Given the description of an element on the screen output the (x, y) to click on. 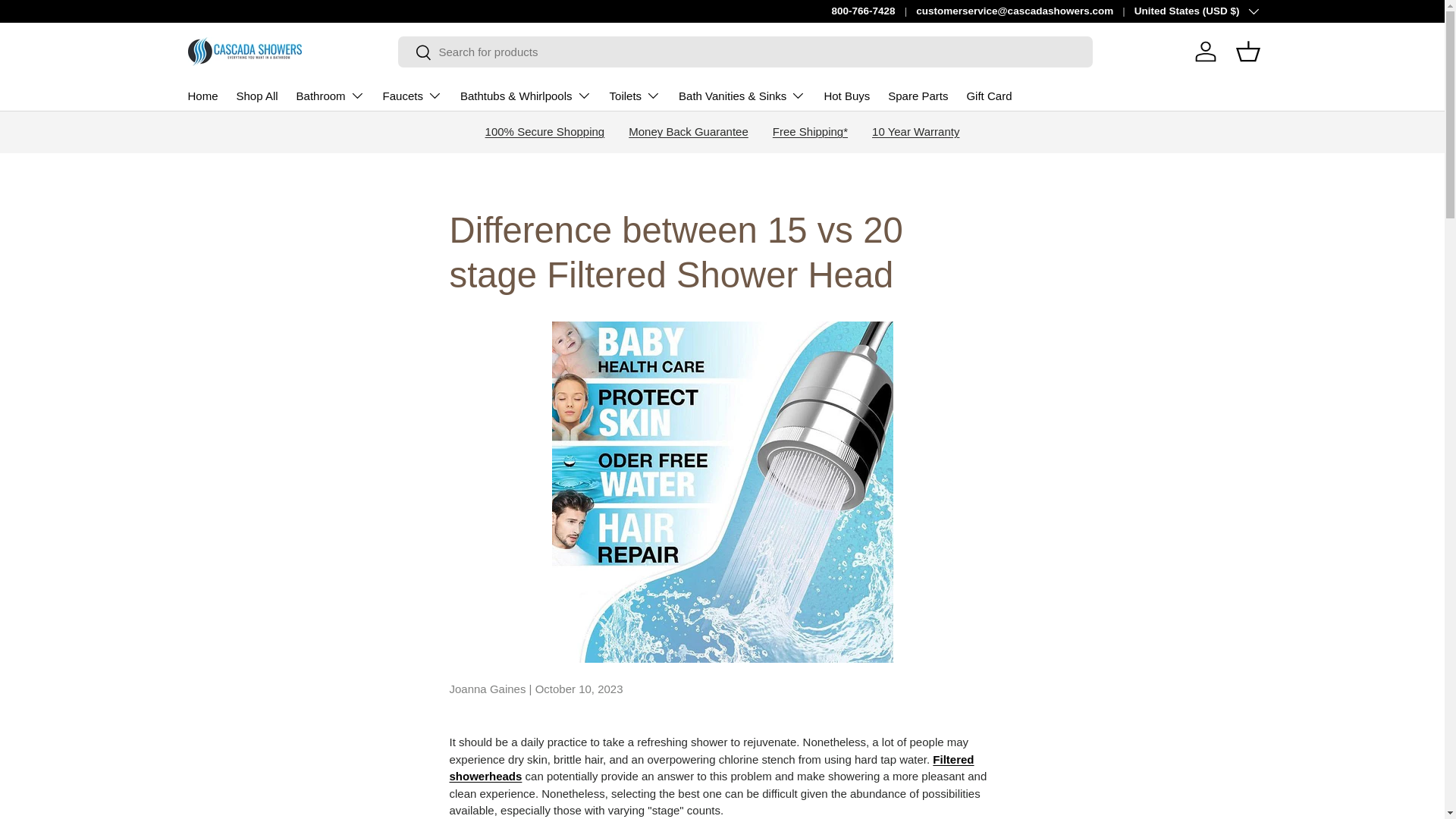
800-766-7428 (874, 11)
Skip to content (69, 21)
Log in (1206, 51)
Search (413, 53)
filtered showerhead (711, 767)
Home (202, 95)
Basket (1248, 51)
Shop All (256, 95)
Bathroom (331, 95)
